Given the description of an element on the screen output the (x, y) to click on. 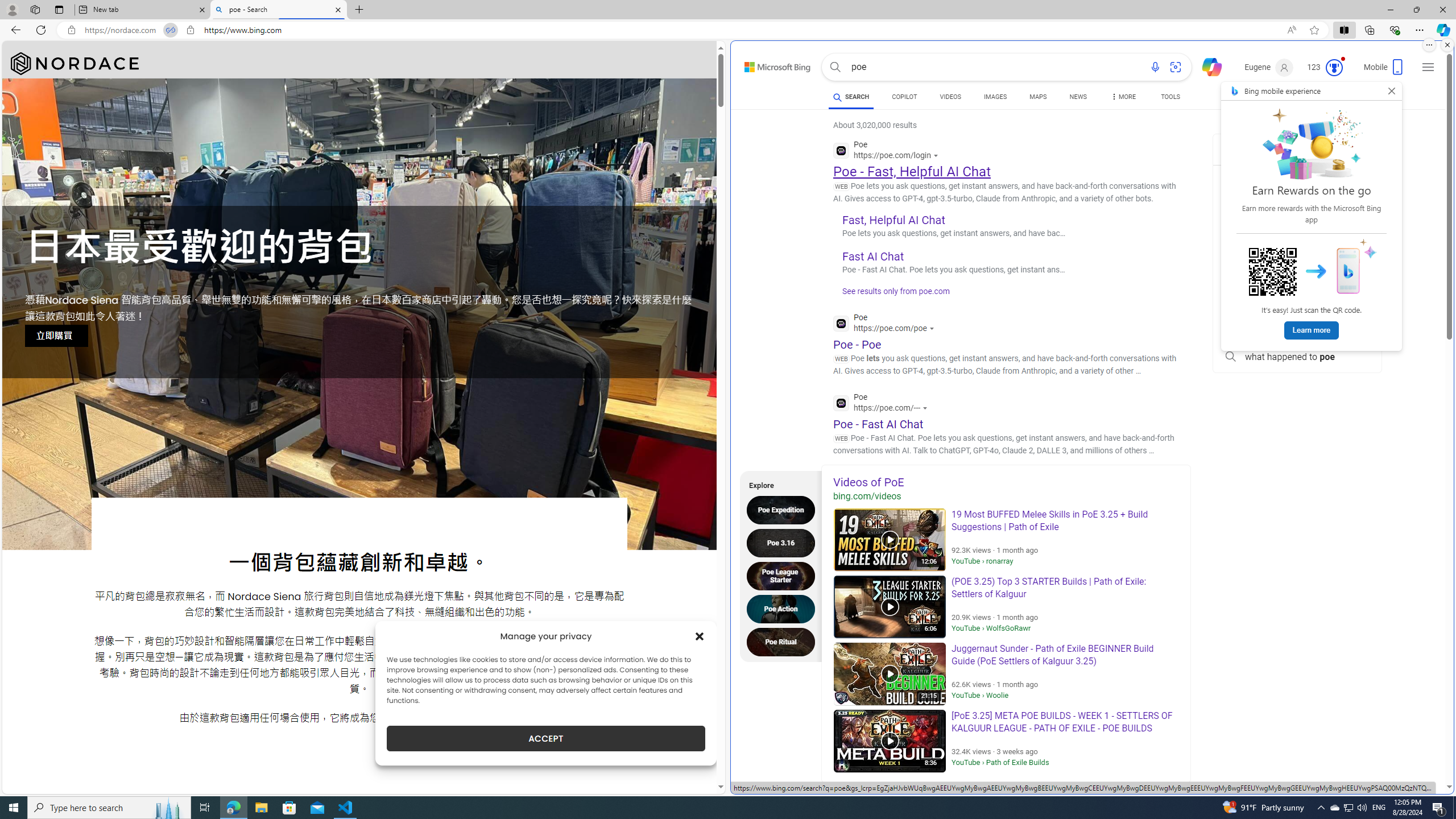
Settings and quick links (1428, 67)
Class: cmplz-close (699, 636)
AutomationID: mfa_root (1406, 752)
Eugene (1269, 67)
ACCEPT (545, 738)
Search more (1423, 753)
poe website (1297, 331)
poe - Search (277, 9)
SEARCH (850, 96)
MAPS (1038, 96)
